Given the description of an element on the screen output the (x, y) to click on. 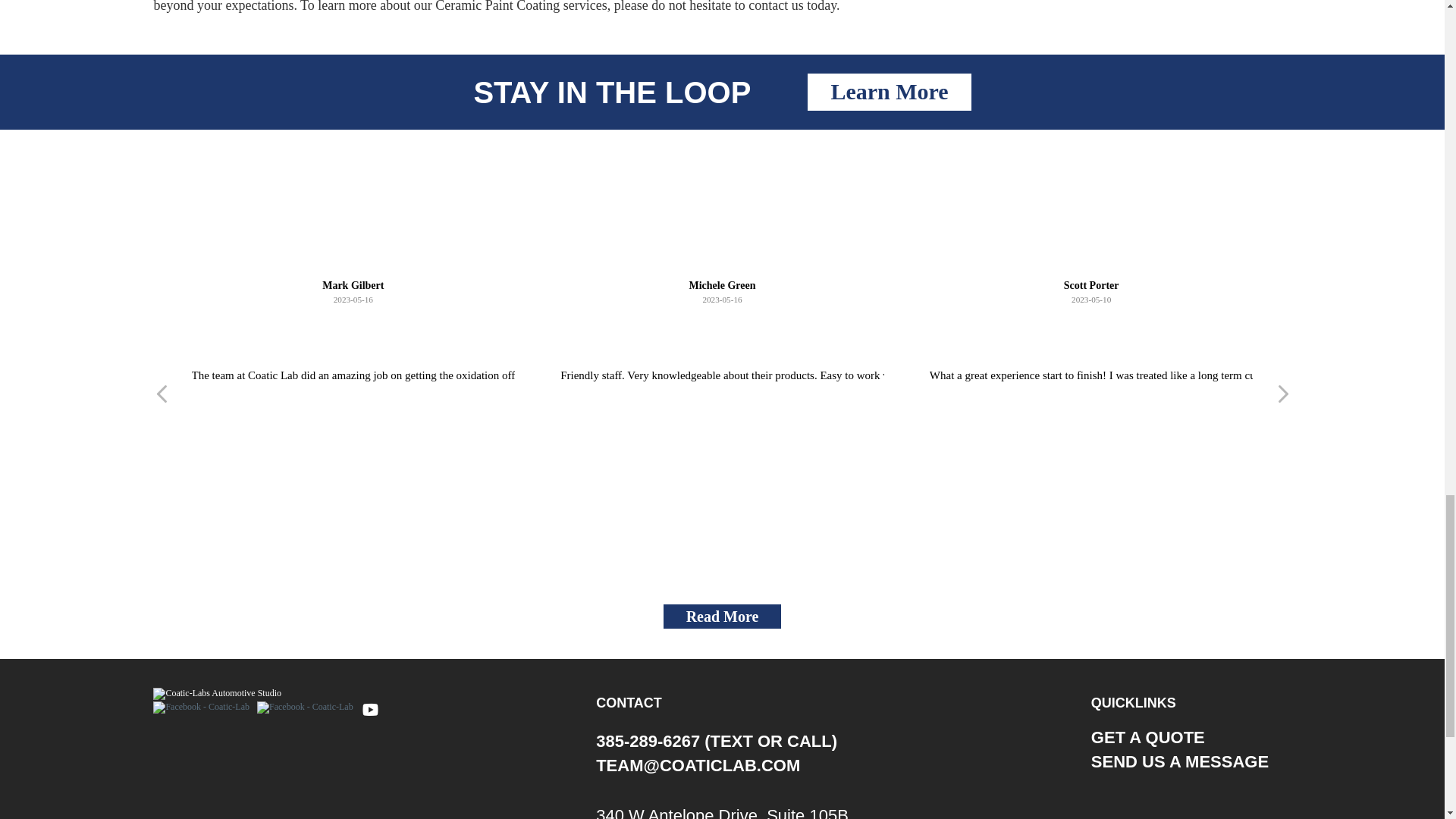
SEND US A MESSAGE (1179, 764)
GET A QUOTE (1147, 740)
Learn More (889, 91)
Read More (722, 616)
